Given the description of an element on the screen output the (x, y) to click on. 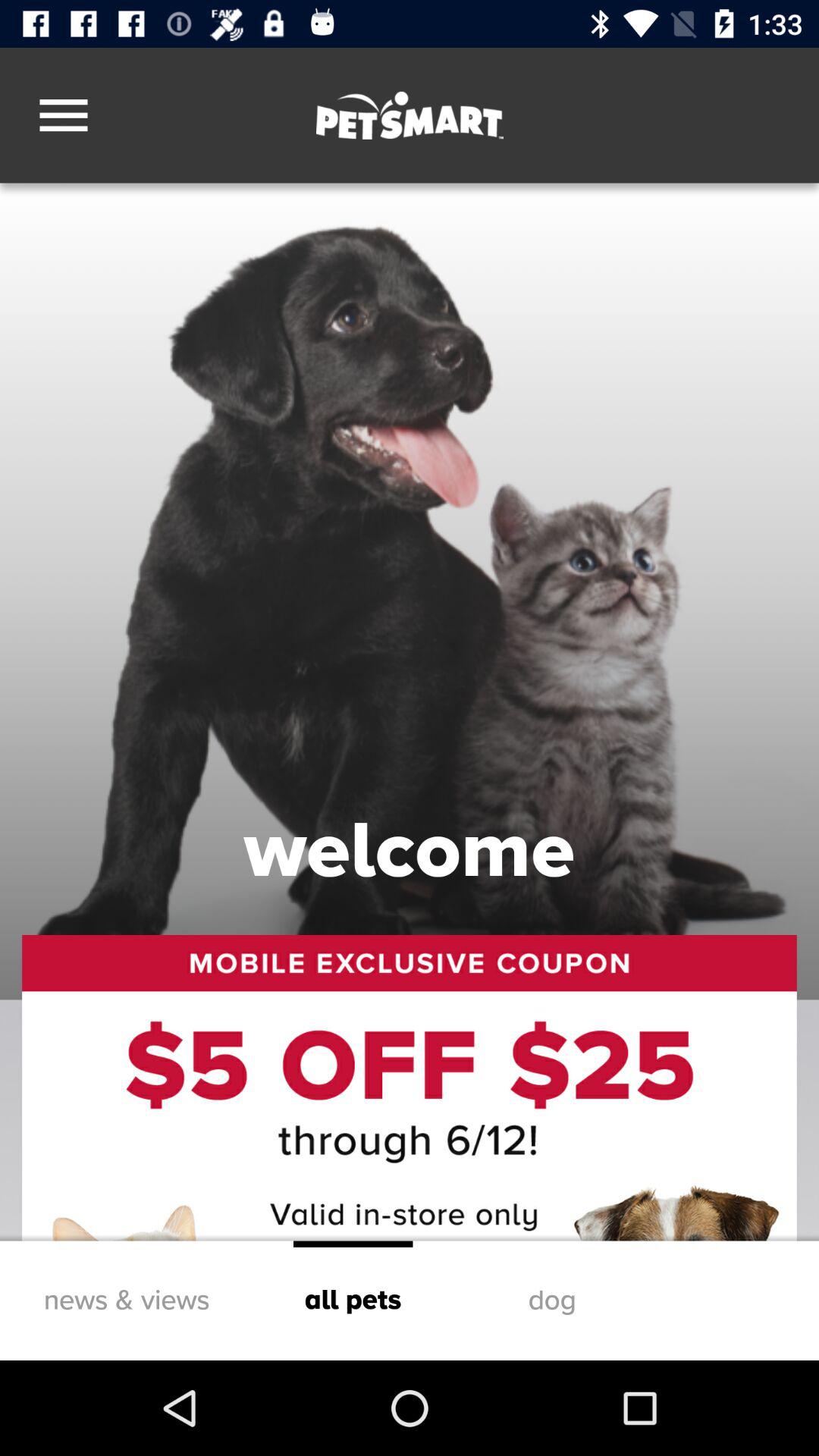
open item to the left of dog icon (352, 1300)
